Given the description of an element on the screen output the (x, y) to click on. 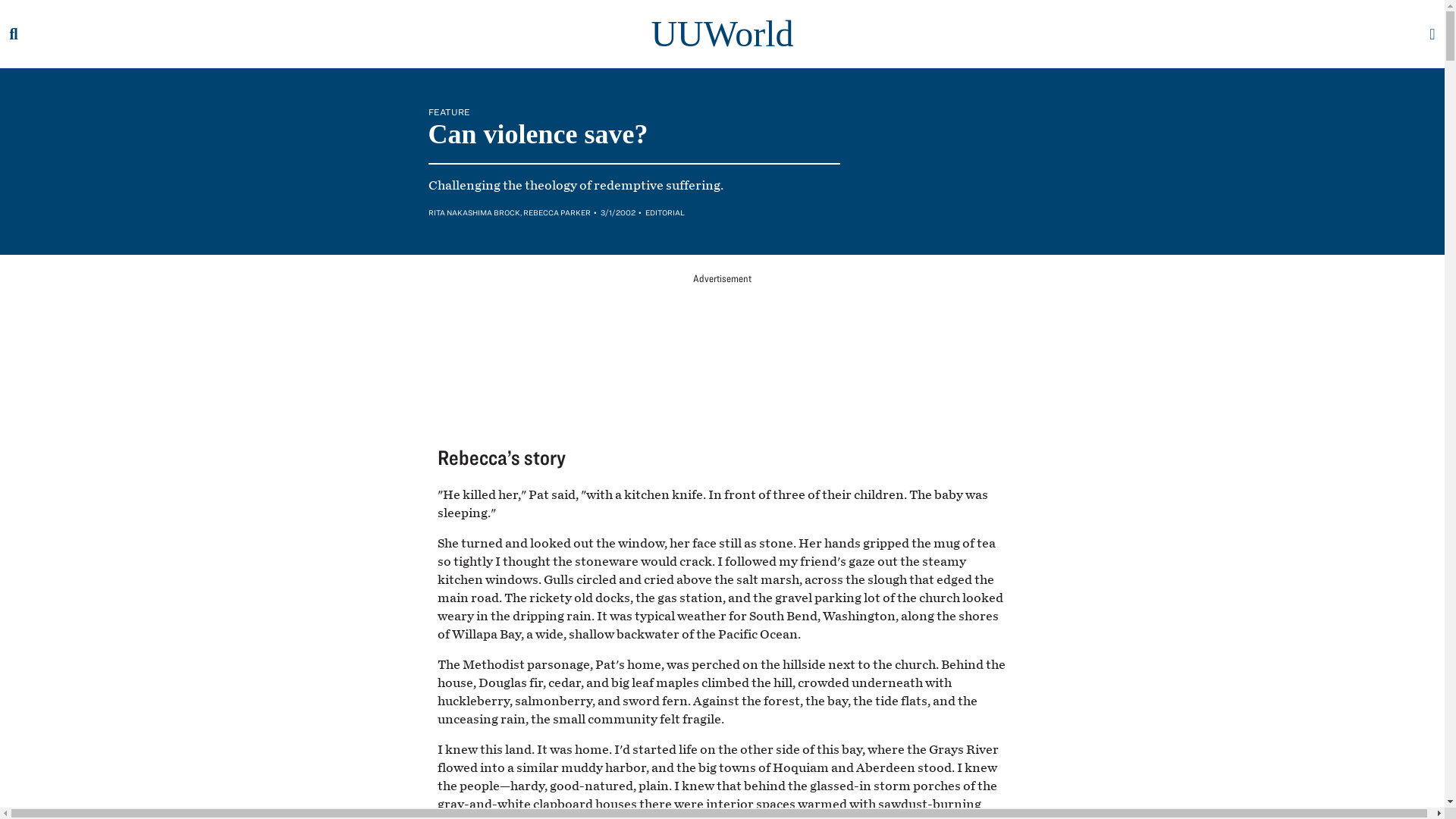
3rd party ad content (721, 346)
UU World: liberal religion and life (721, 33)
Google search box (16, 33)
RITA NAKASHIMA BROCK (473, 212)
EDITORIAL (664, 212)
REBECCA PARKER (556, 212)
UUWorld (721, 33)
